Given the description of an element on the screen output the (x, y) to click on. 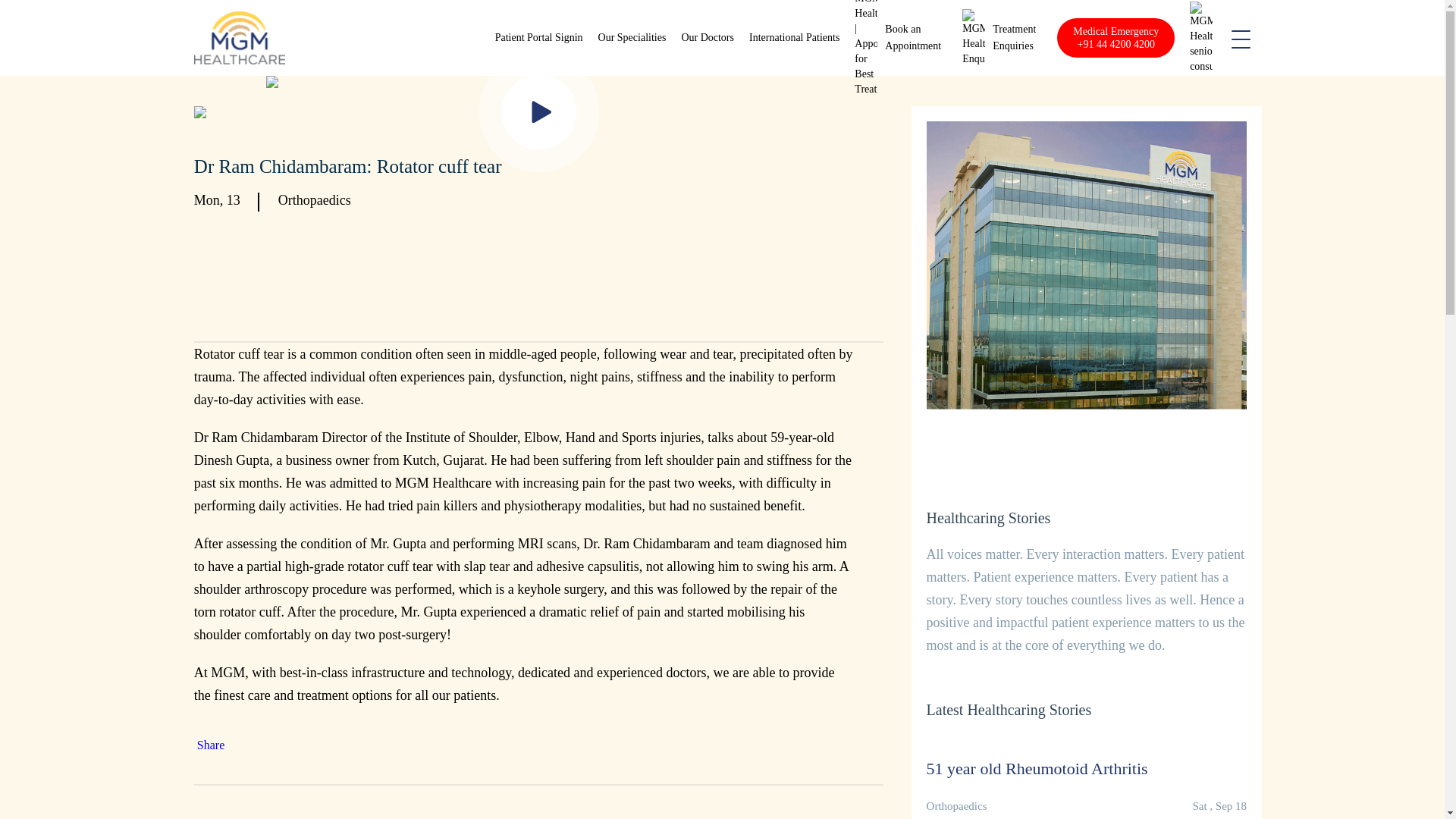
Our Doctors (707, 37)
Our Doctors (707, 37)
Contact Us (1013, 37)
Our Specialities (632, 37)
Our Specialities (632, 37)
Patient Portal Signin (539, 37)
MGM Emergency Number (1115, 37)
MGM Healthcare (239, 37)
International Patients (794, 37)
International Patients (794, 37)
